Given the description of an element on the screen output the (x, y) to click on. 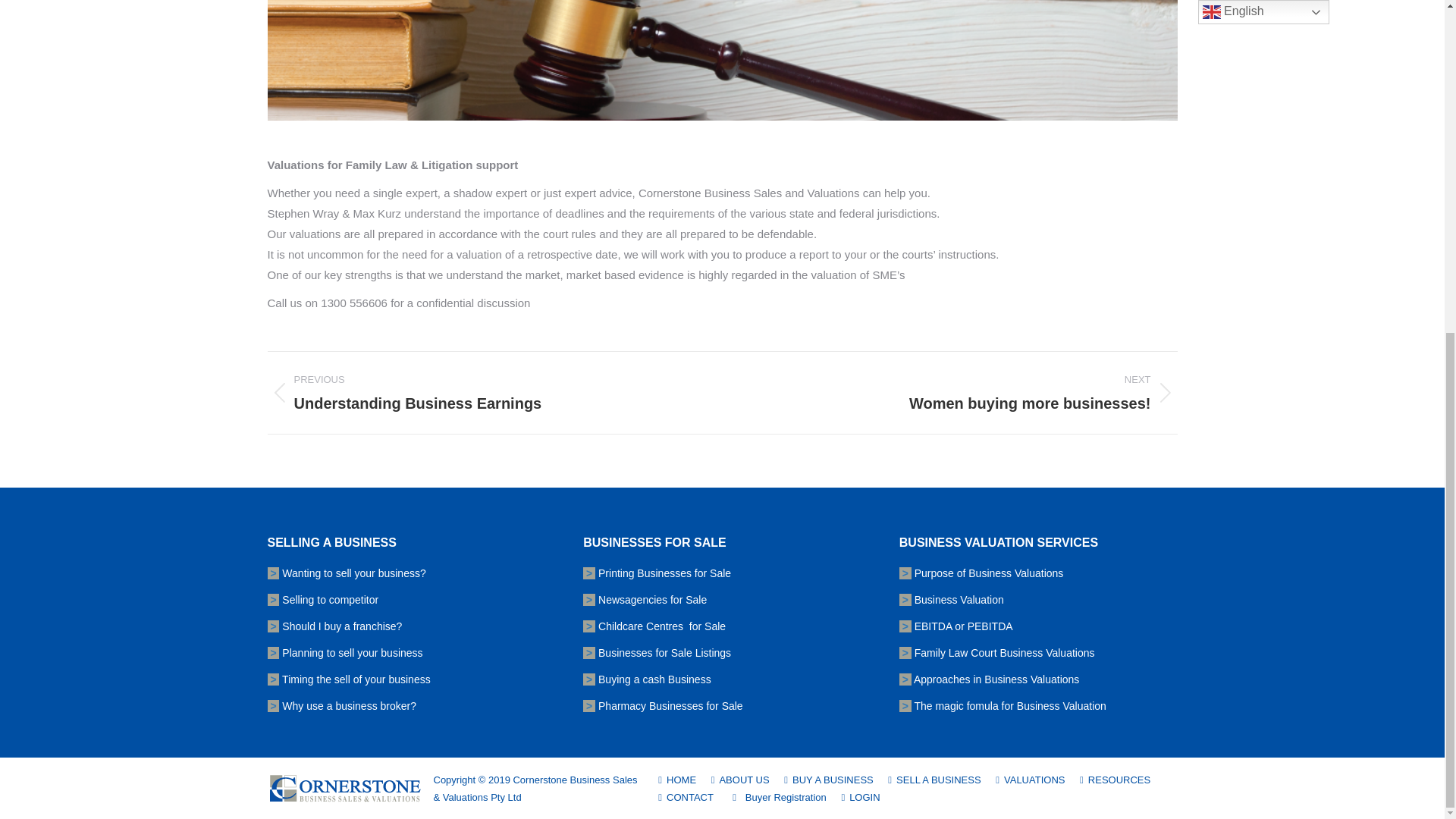
Valuation-for-family-Law (721, 60)
